Given the description of an element on the screen output the (x, y) to click on. 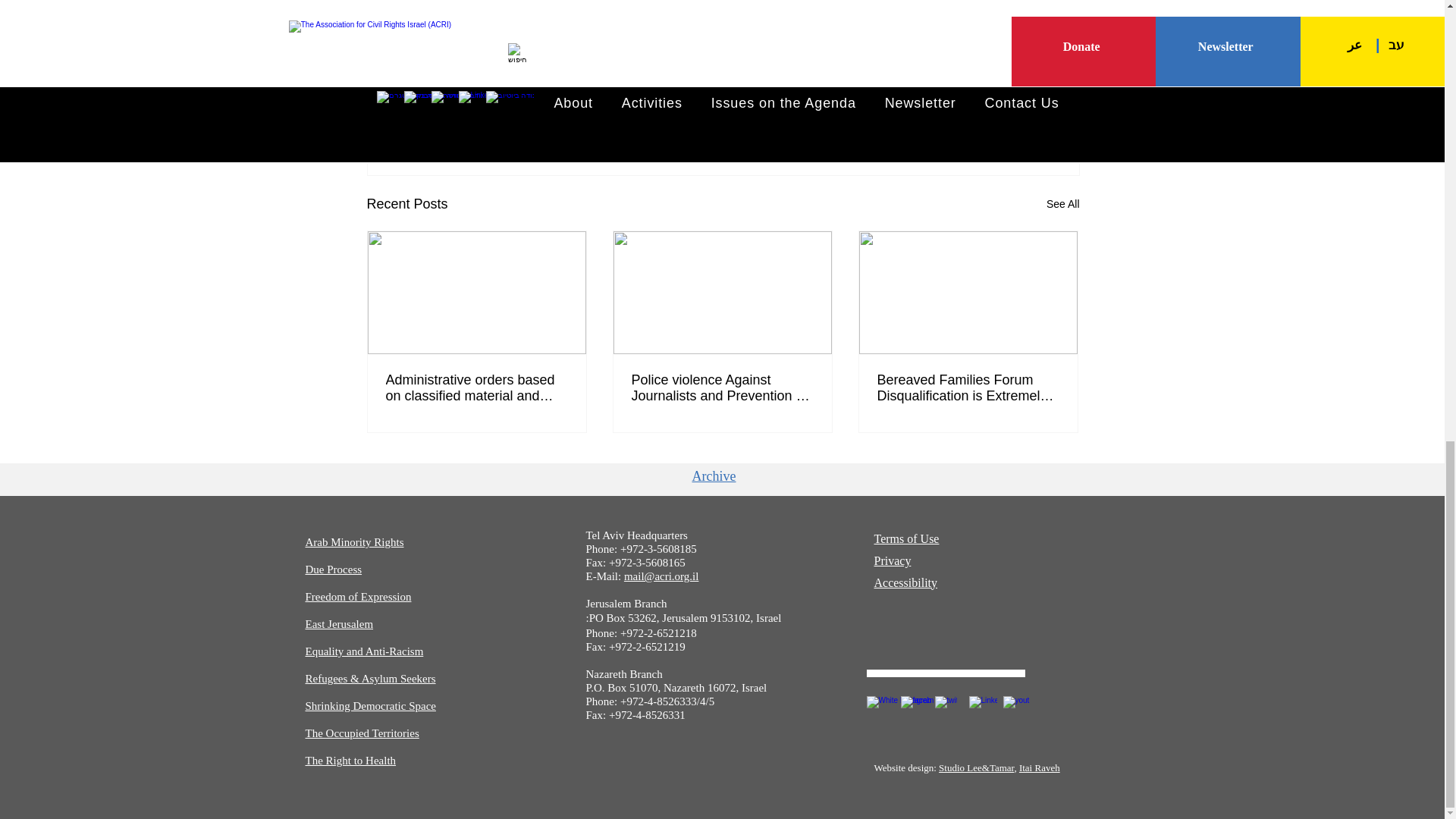
Archive (713, 476)
In The Knesset (818, 105)
See All (1063, 204)
Shrinking Democratic Space (936, 105)
Arab Minority Rights (353, 541)
